Given the description of an element on the screen output the (x, y) to click on. 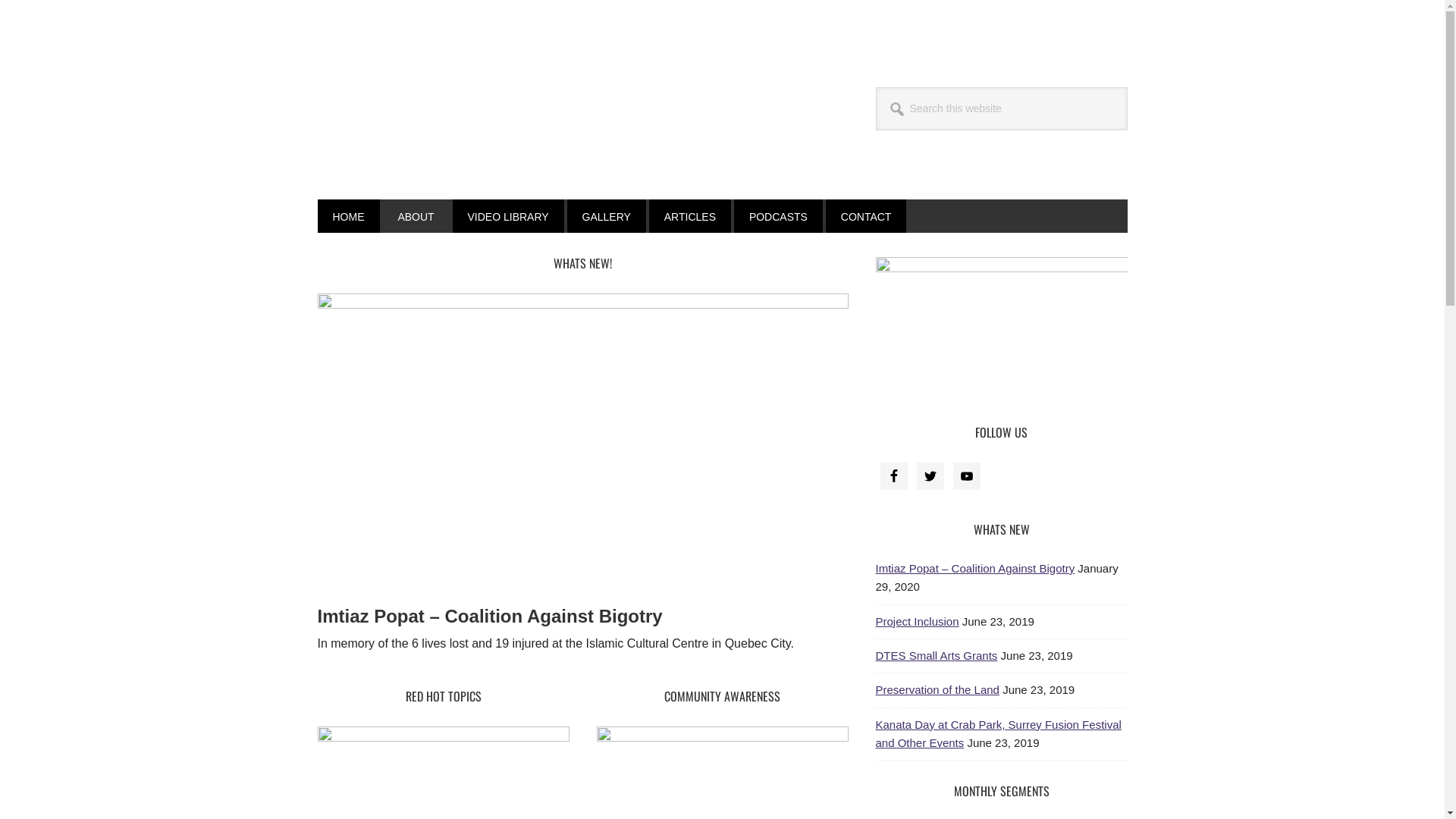
Search Element type: text (1126, 86)
DTES Small Arts Grants Element type: text (936, 655)
VIDEO LIBRARY Element type: text (508, 215)
ABOUT Element type: text (415, 215)
YOUR COMMUNITY MEDIA Element type: text (452, 111)
ARTICLES Element type: text (690, 215)
Preservation of the Land Element type: text (936, 689)
HOME Element type: text (347, 215)
Skip to primary navigation Element type: text (0, 0)
CONTACT Element type: text (865, 215)
Project Inclusion Element type: text (916, 621)
PODCASTS Element type: text (778, 215)
GALLERY Element type: text (606, 215)
